Given the description of an element on the screen output the (x, y) to click on. 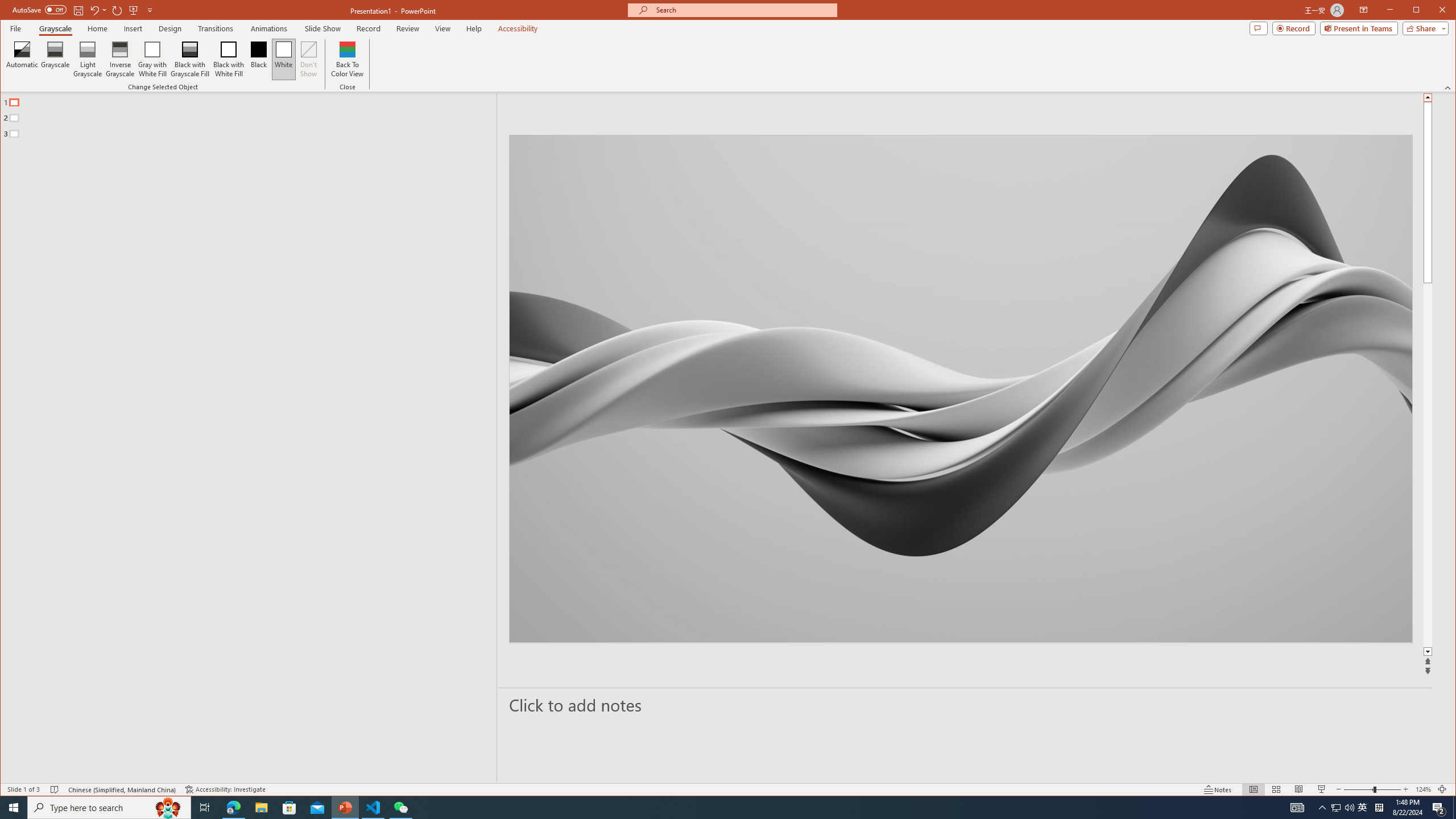
Normal (1253, 789)
Automatic (22, 59)
Action Center, 2 new notifications (1439, 807)
From Beginning (133, 9)
Page down (1427, 465)
Black with Grayscale Fill (189, 59)
Save (77, 9)
Accessibility Checker Accessibility: Investigate (225, 789)
Review (407, 28)
AutoSave (38, 9)
Inverse Grayscale (119, 59)
Slide Sorter (1276, 789)
Wavy 3D art (960, 388)
